Given the description of an element on the screen output the (x, y) to click on. 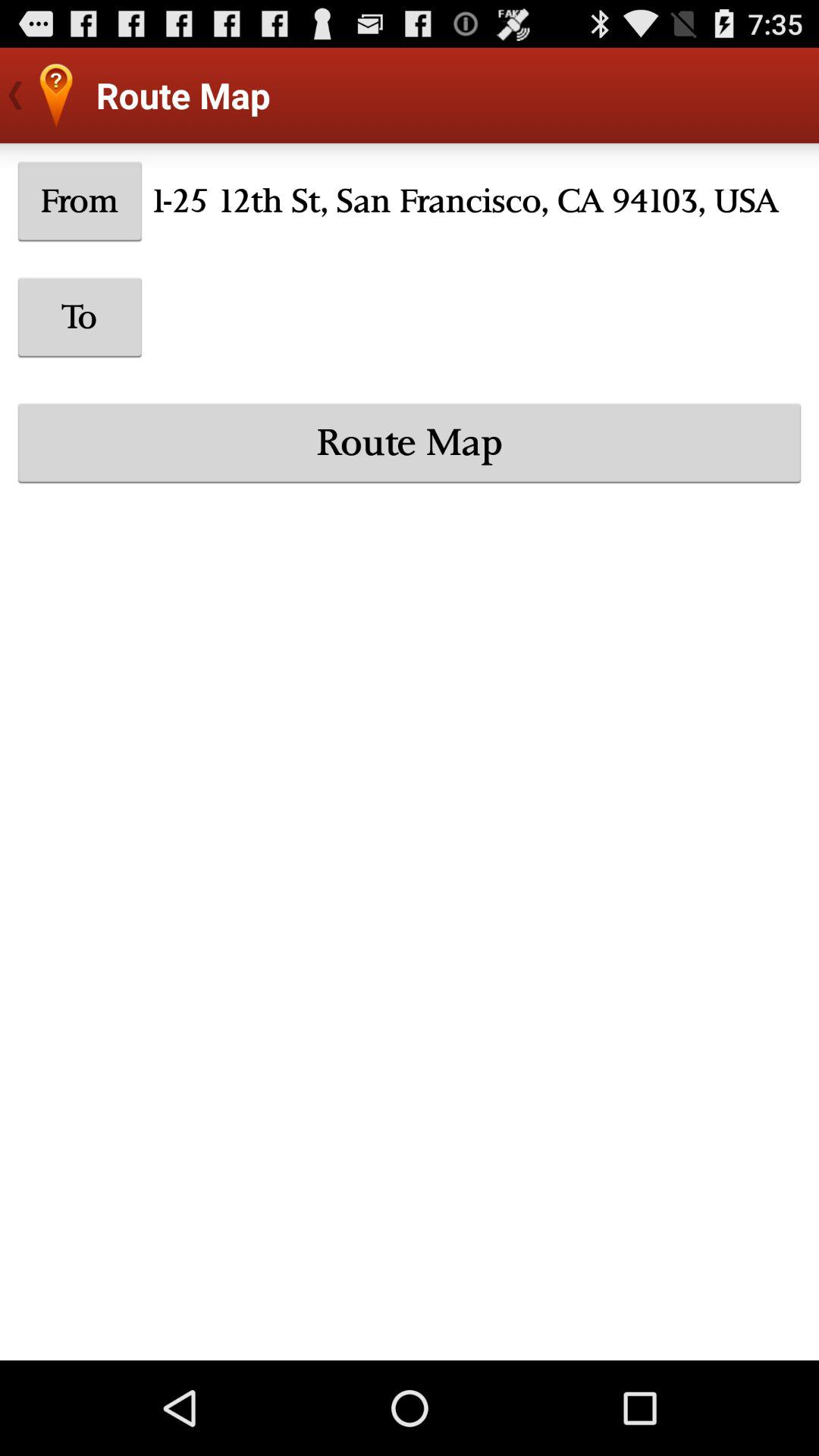
scroll to the to (79, 317)
